Given the description of an element on the screen output the (x, y) to click on. 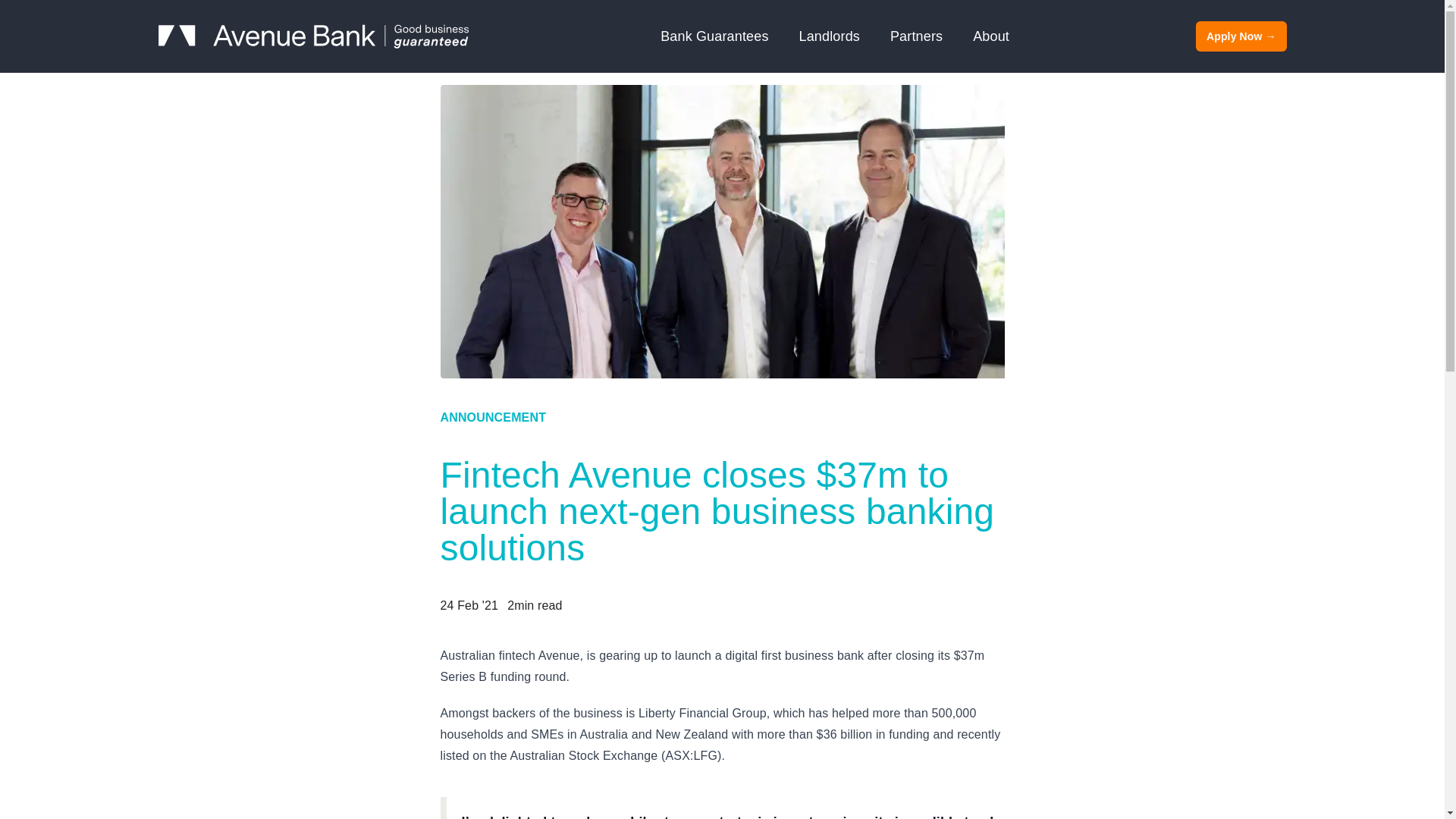
Partners (916, 36)
Landlords (829, 36)
Bank Guarantees (713, 36)
About (990, 36)
